Given the description of an element on the screen output the (x, y) to click on. 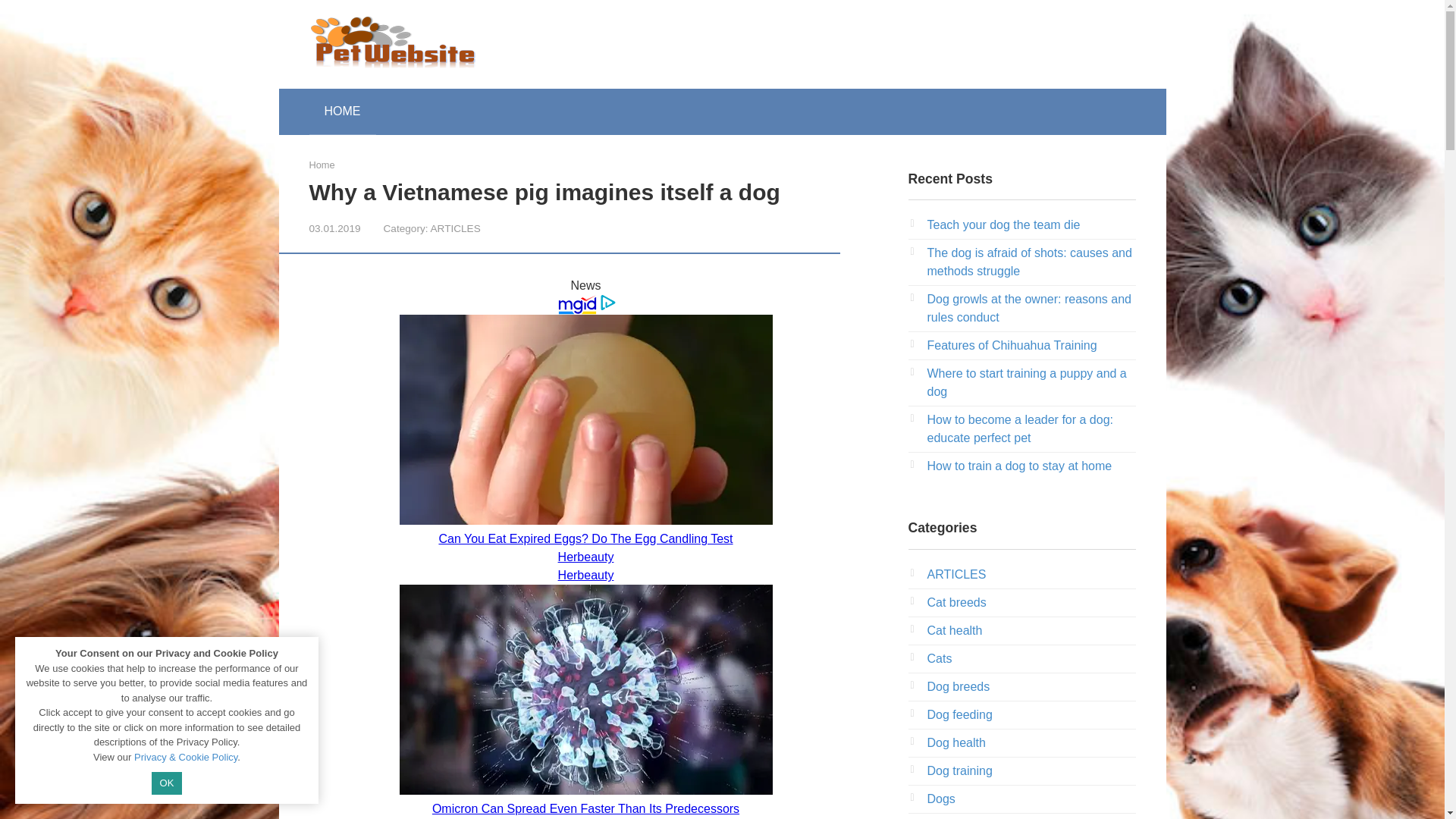
How to become a leader for a dog: educate perfect pet (1019, 428)
Cats (939, 658)
ARTICLES (455, 228)
How to train a dog to stay at home (1019, 465)
ARTICLES (955, 574)
Where to start training a puppy and a dog (1025, 382)
Teach your dog the team die (1003, 224)
Dog health (955, 742)
Cat health (953, 630)
Home (321, 164)
Dog breeds (958, 686)
HOME (341, 111)
Dog feeding (958, 714)
Cat breeds (955, 602)
